Given the description of an element on the screen output the (x, y) to click on. 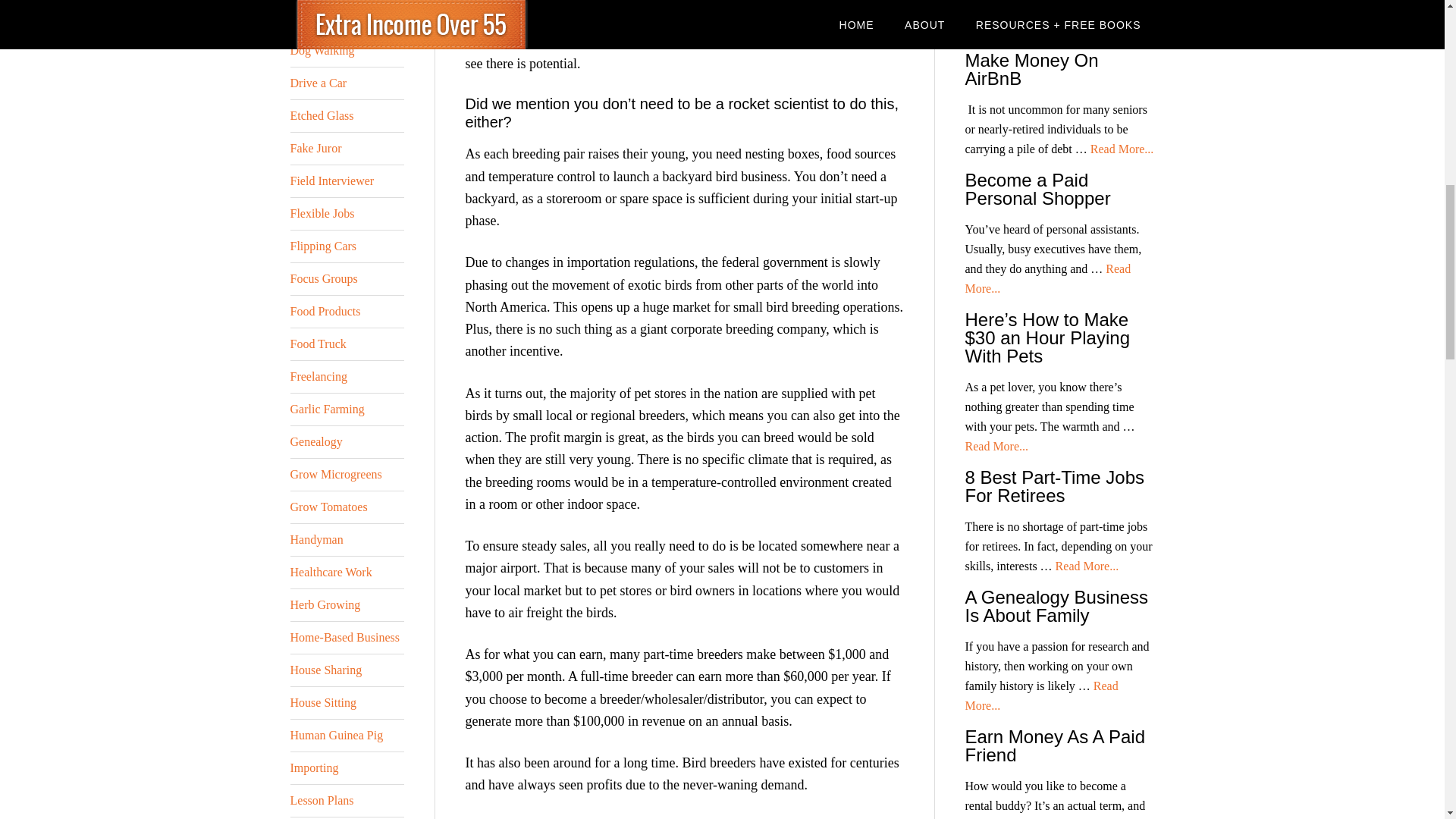
Become a Paid Personal Shopper (1036, 188)
Read More... (1047, 278)
Read More... (1087, 565)
Earn Money As A Paid Friend (1053, 745)
Read More... (995, 445)
8 Best Part-Time Jobs For Retirees (1053, 486)
Read More... (1040, 695)
Read More... (1055, 19)
Read More... (1122, 148)
Make Money On AirBnB (1030, 68)
